Given the description of an element on the screen output the (x, y) to click on. 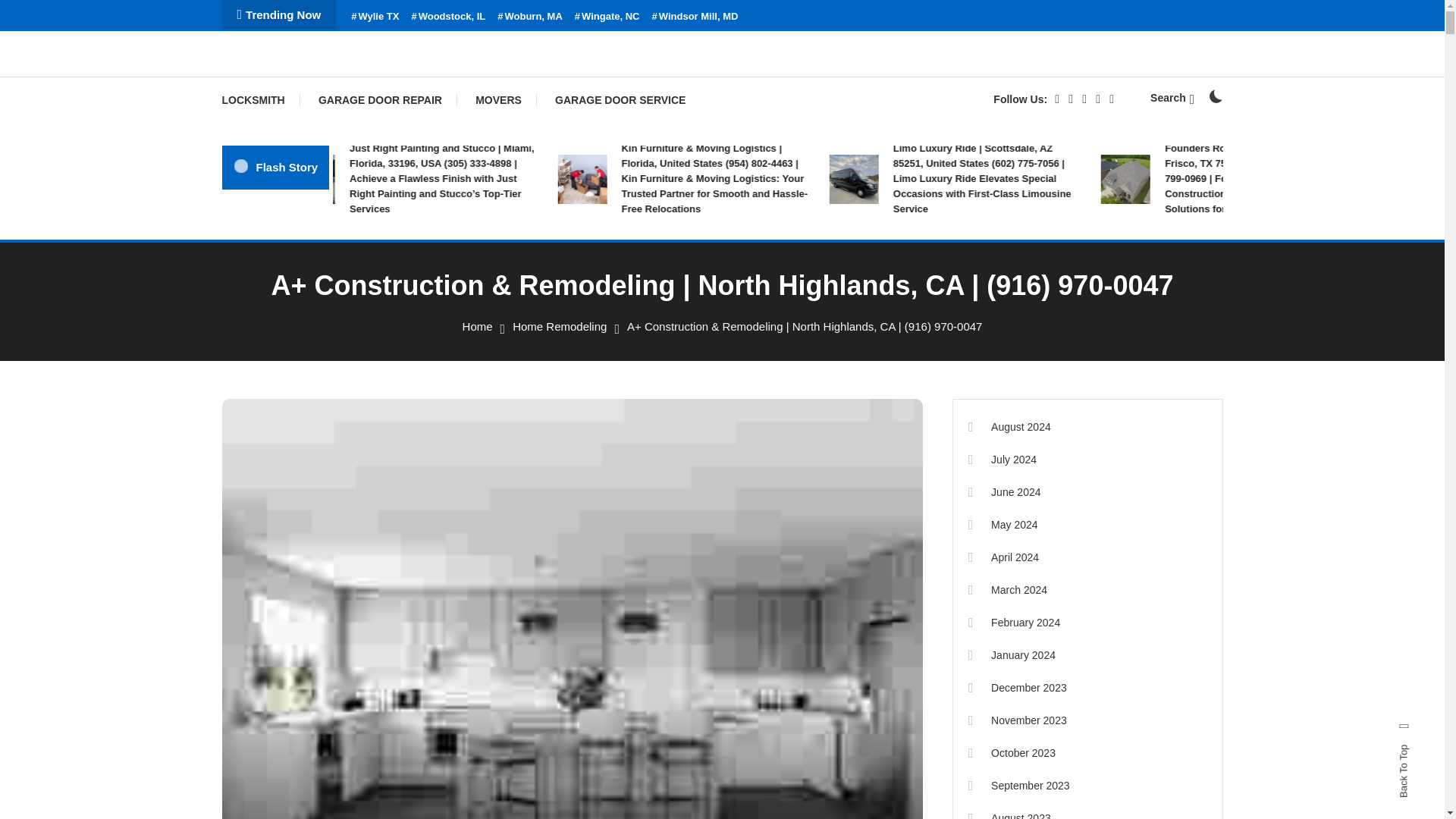
Search (1171, 97)
Woburn, MA (529, 16)
on (1215, 96)
LOCKSMITH (260, 99)
Home Remodeling (559, 326)
GARAGE DOOR SERVICE (620, 99)
Home (478, 326)
GARAGE DOOR REPAIR (379, 99)
MOVERS (498, 99)
Wylie TX (374, 16)
